Given the description of an element on the screen output the (x, y) to click on. 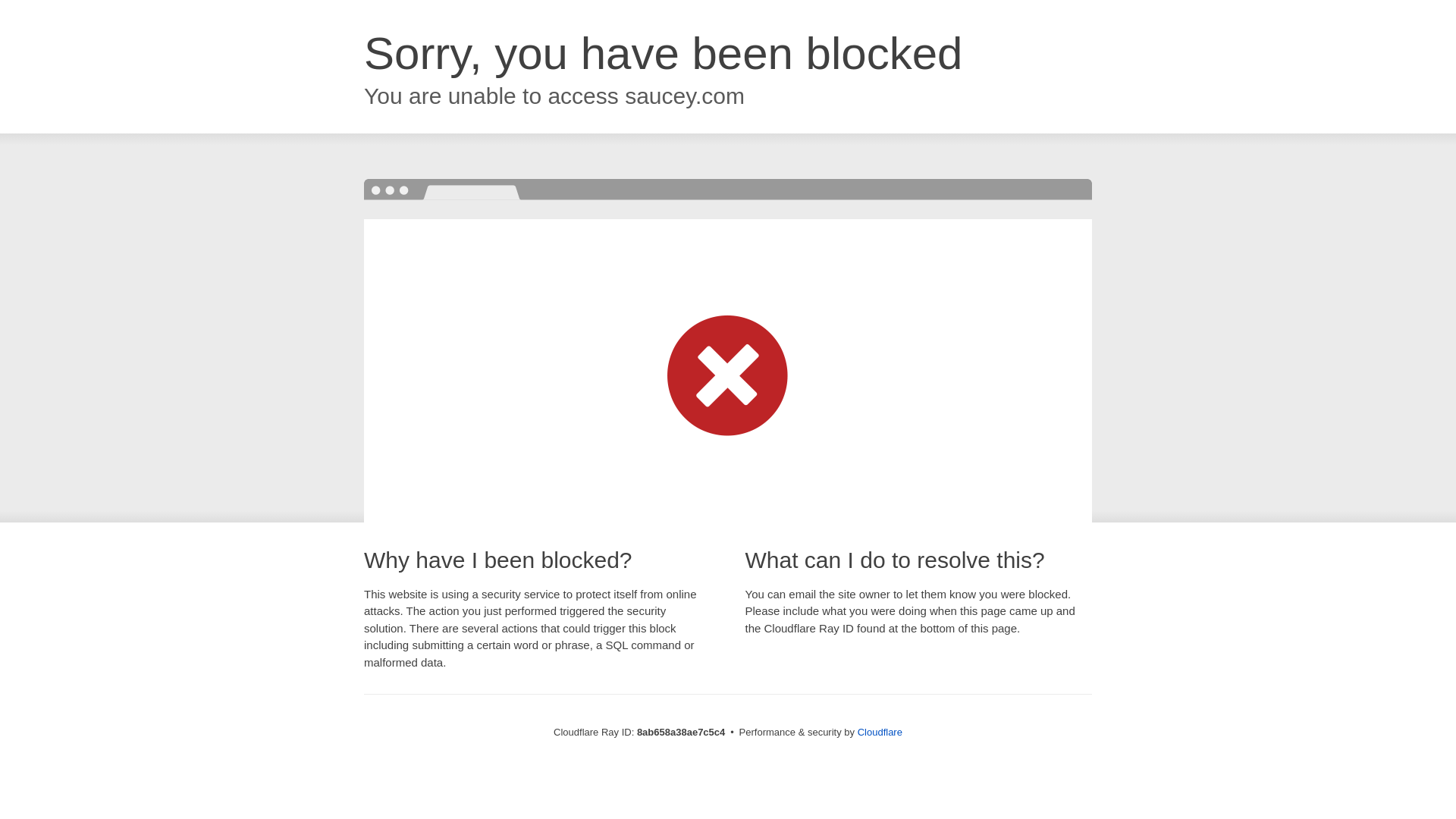
Cloudflare (879, 731)
